Given the description of an element on the screen output the (x, y) to click on. 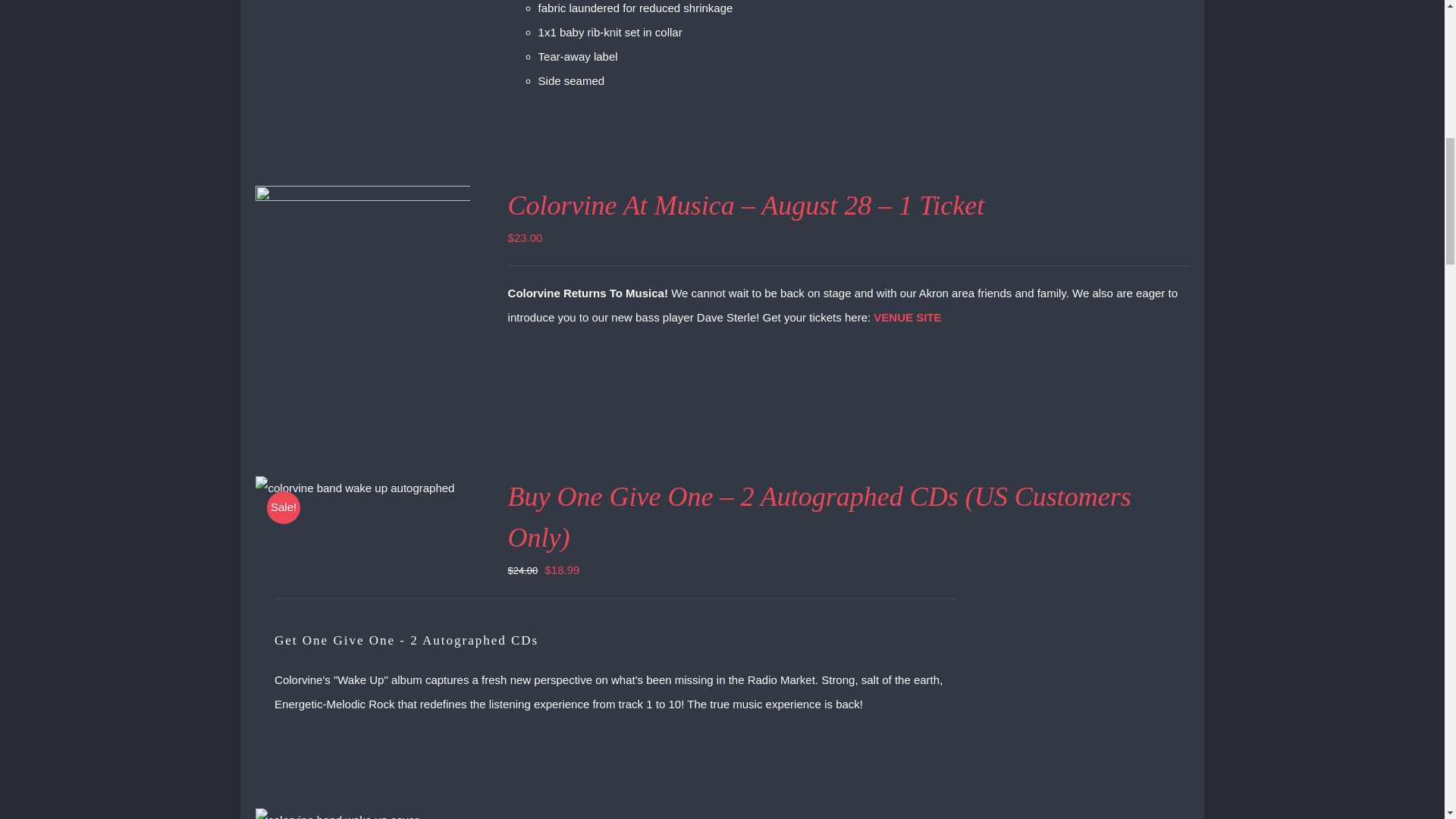
VENUE SITE (906, 317)
